Given the description of an element on the screen output the (x, y) to click on. 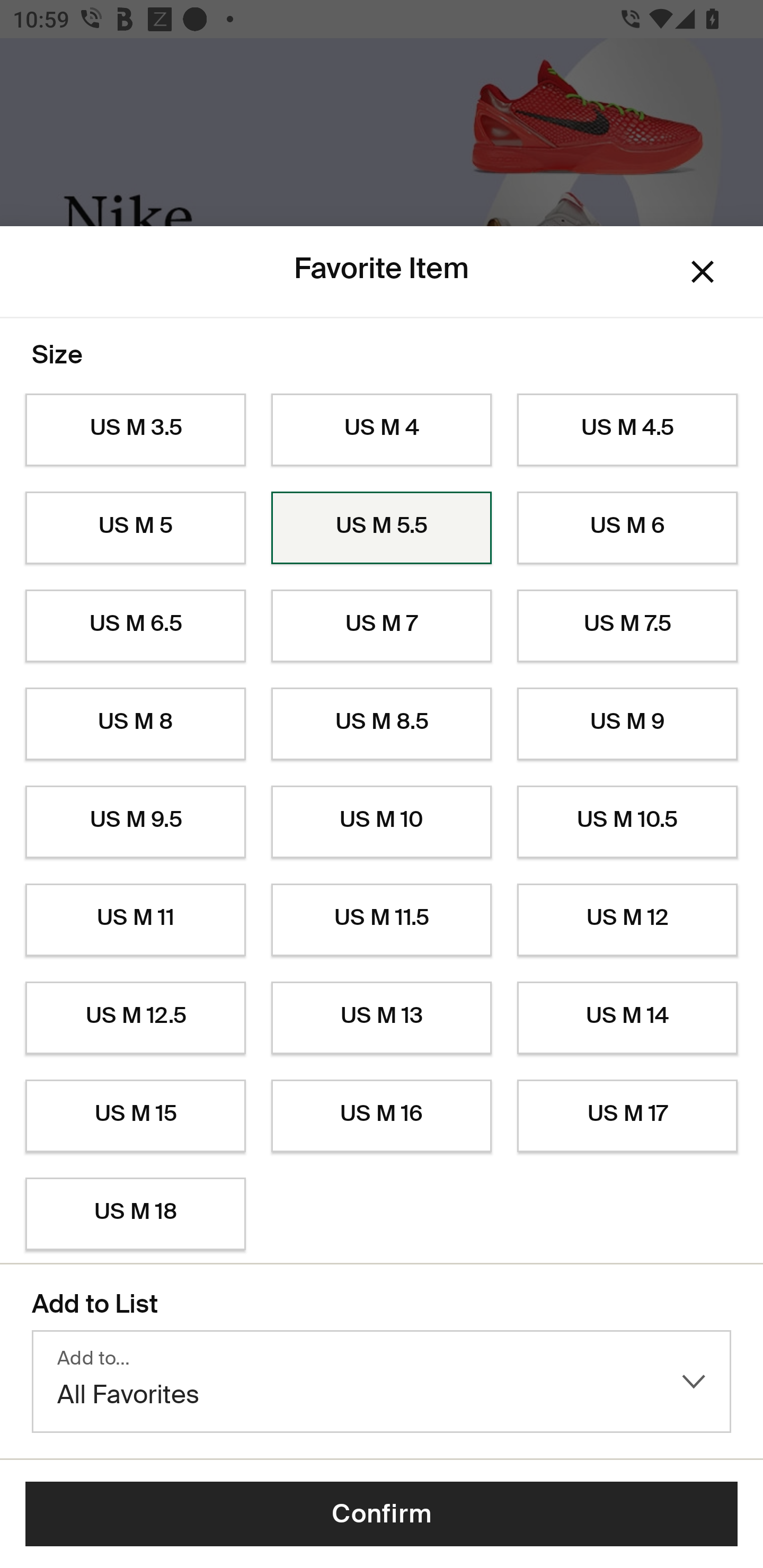
Dismiss (702, 271)
US M 3.5 (135, 430)
US M 4 (381, 430)
US M 4.5 (627, 430)
US M 5 (135, 527)
US M 5.5 (381, 527)
US M 6 (627, 527)
US M 6.5 (135, 626)
US M 7 (381, 626)
US M 7.5 (627, 626)
US M 8 (135, 724)
US M 8.5 (381, 724)
US M 9 (627, 724)
US M 9.5 (135, 822)
US M 10 (381, 822)
US M 10.5 (627, 822)
US M 11 (135, 919)
US M 11.5 (381, 919)
US M 12 (627, 919)
US M 12.5 (135, 1018)
US M 13 (381, 1018)
US M 14 (627, 1018)
US M 15 (135, 1116)
US M 16 (381, 1116)
US M 17 (627, 1116)
US M 18 (135, 1214)
Add to… All Favorites (381, 1381)
Confirm (381, 1513)
